Given the description of an element on the screen output the (x, y) to click on. 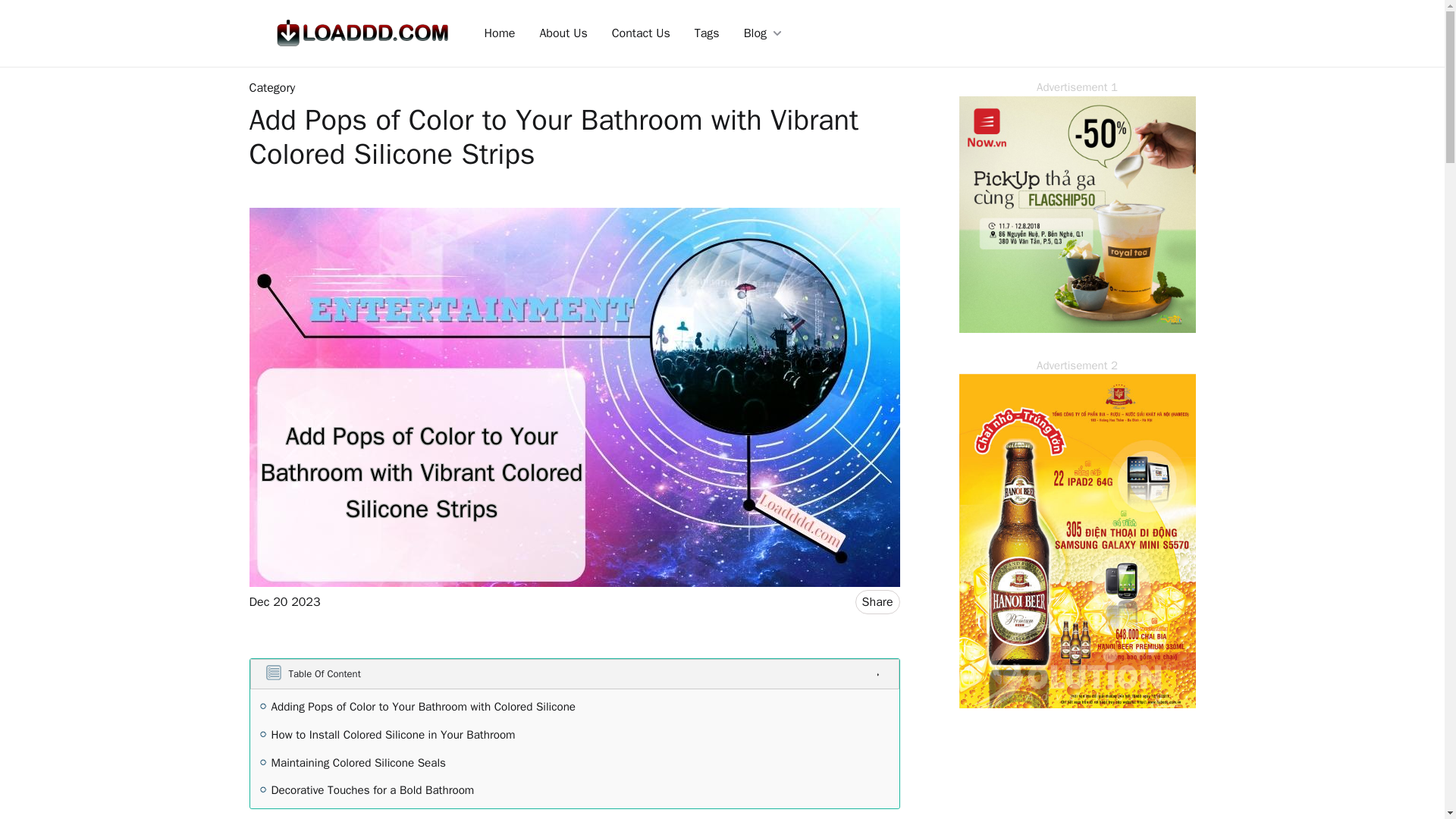
Blog (762, 33)
Decorative Touches for a Bold Bathroom (372, 790)
About Us (562, 33)
Tags (707, 33)
Maintaining Colored Silicone Seals (357, 763)
Adding Pops of Color to Your Bathroom with Colored Silicone (423, 706)
Contact Us (640, 33)
Category (271, 87)
How to Install Colored Silicone in Your Bathroom (392, 734)
Home (499, 33)
Share (877, 601)
